Given the description of an element on the screen output the (x, y) to click on. 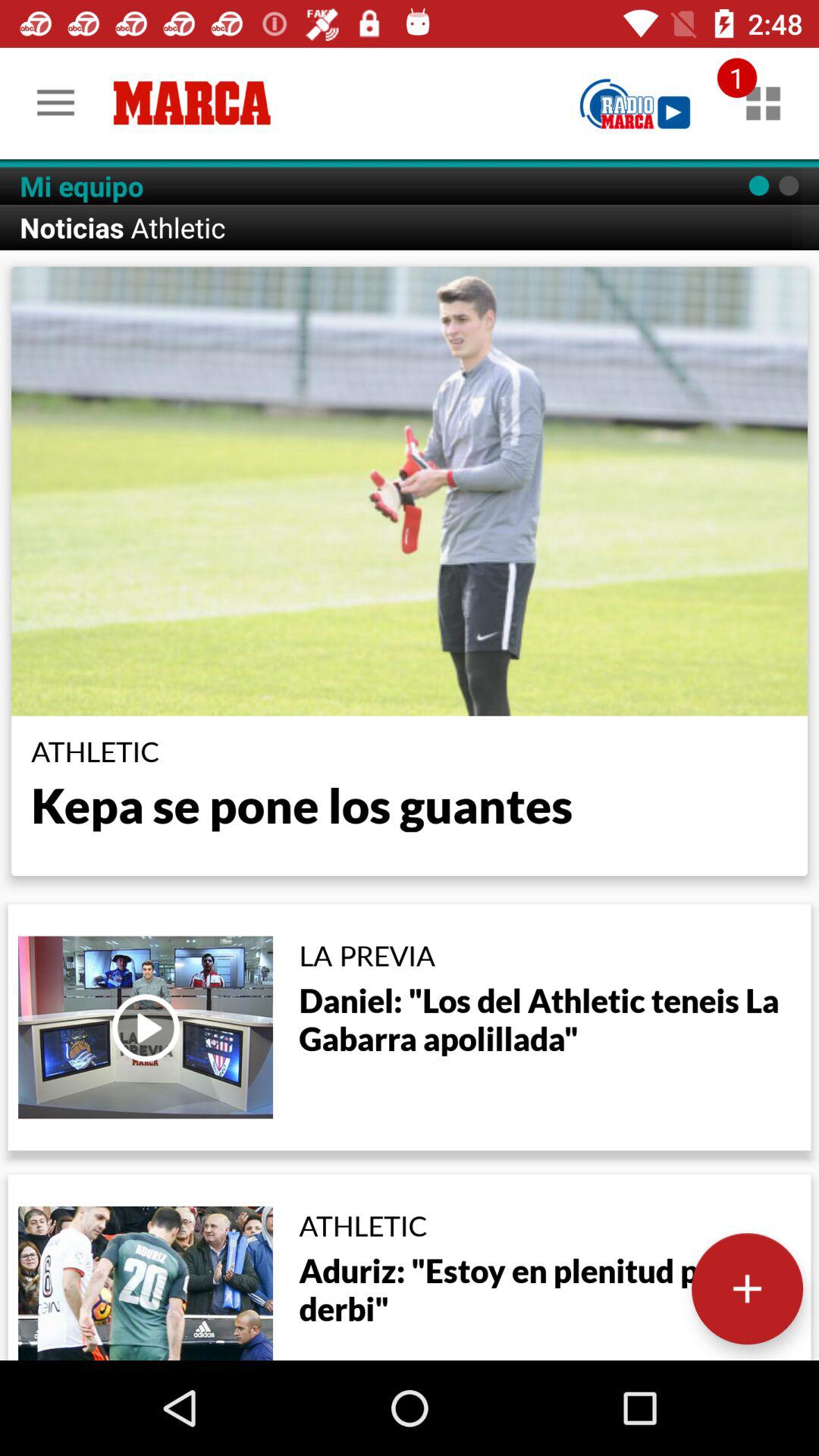
choose item to the right of the mi equipo icon (635, 103)
